Given the description of an element on the screen output the (x, y) to click on. 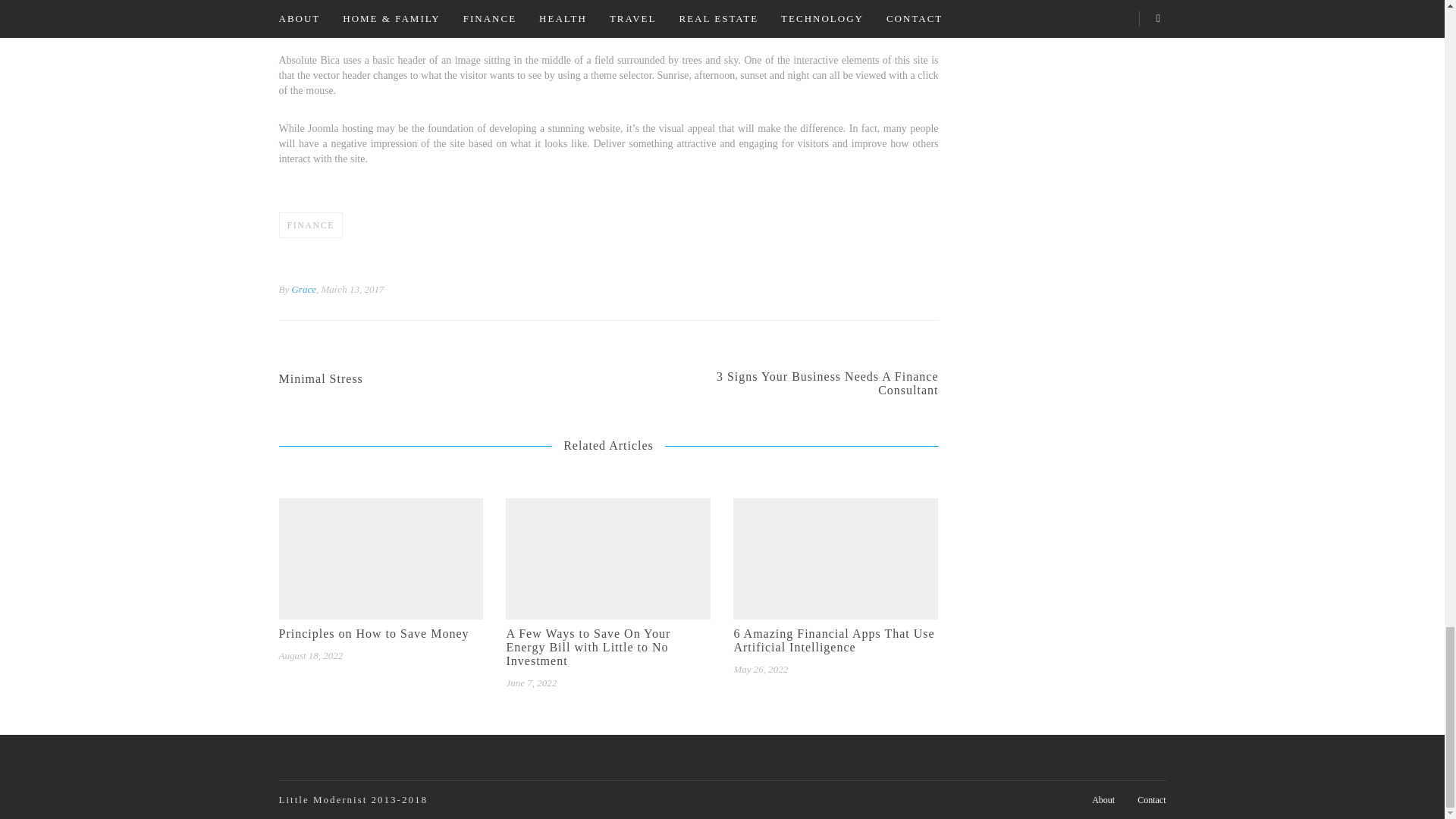
, March 13, 2017 (349, 288)
By (284, 288)
FINANCE (311, 225)
Joomla hostin (337, 128)
Principles on How to Save Money (381, 633)
Absolute Bica (807, 383)
6 Amazing Financial Apps That Use Artificial Intelligence (411, 378)
